Given the description of an element on the screen output the (x, y) to click on. 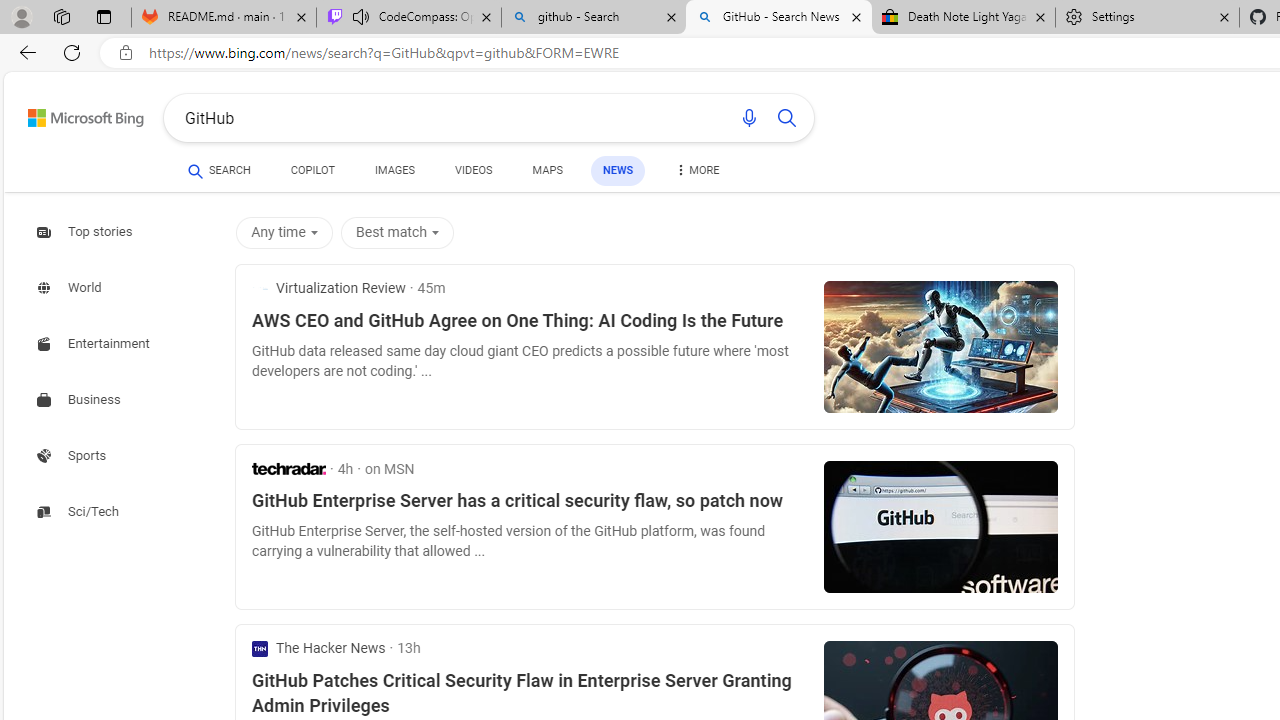
Search news about Sports (73, 455)
Search news about Business (80, 400)
Search news about Sci/Tech (80, 511)
Any time (287, 232)
Best match (401, 232)
COPILOT (311, 173)
MAPS (546, 173)
Search button (786, 117)
Search using voice (748, 117)
Dropdown Menu (696, 170)
